Given the description of an element on the screen output the (x, y) to click on. 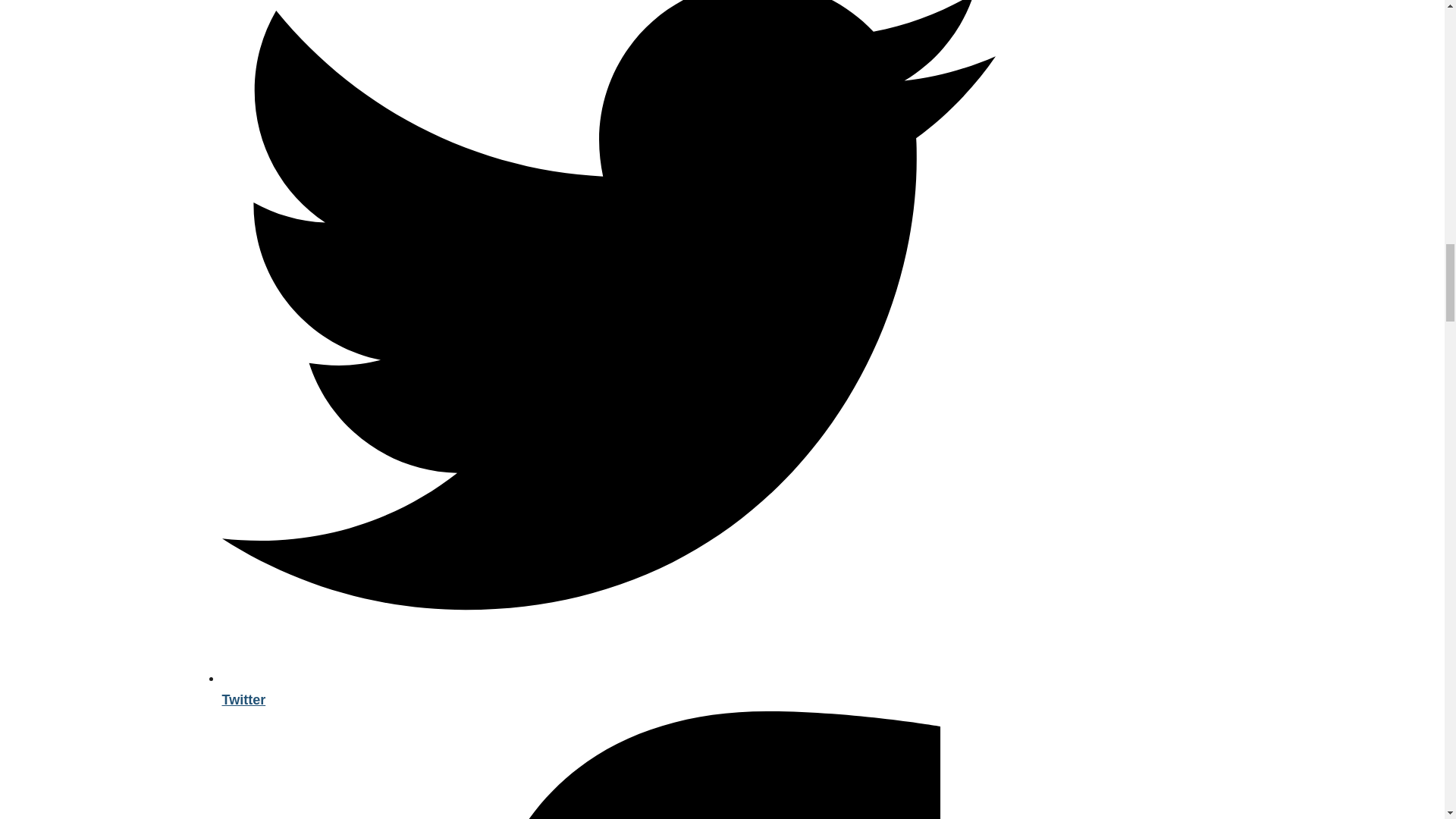
Twitter (607, 688)
